Given the description of an element on the screen output the (x, y) to click on. 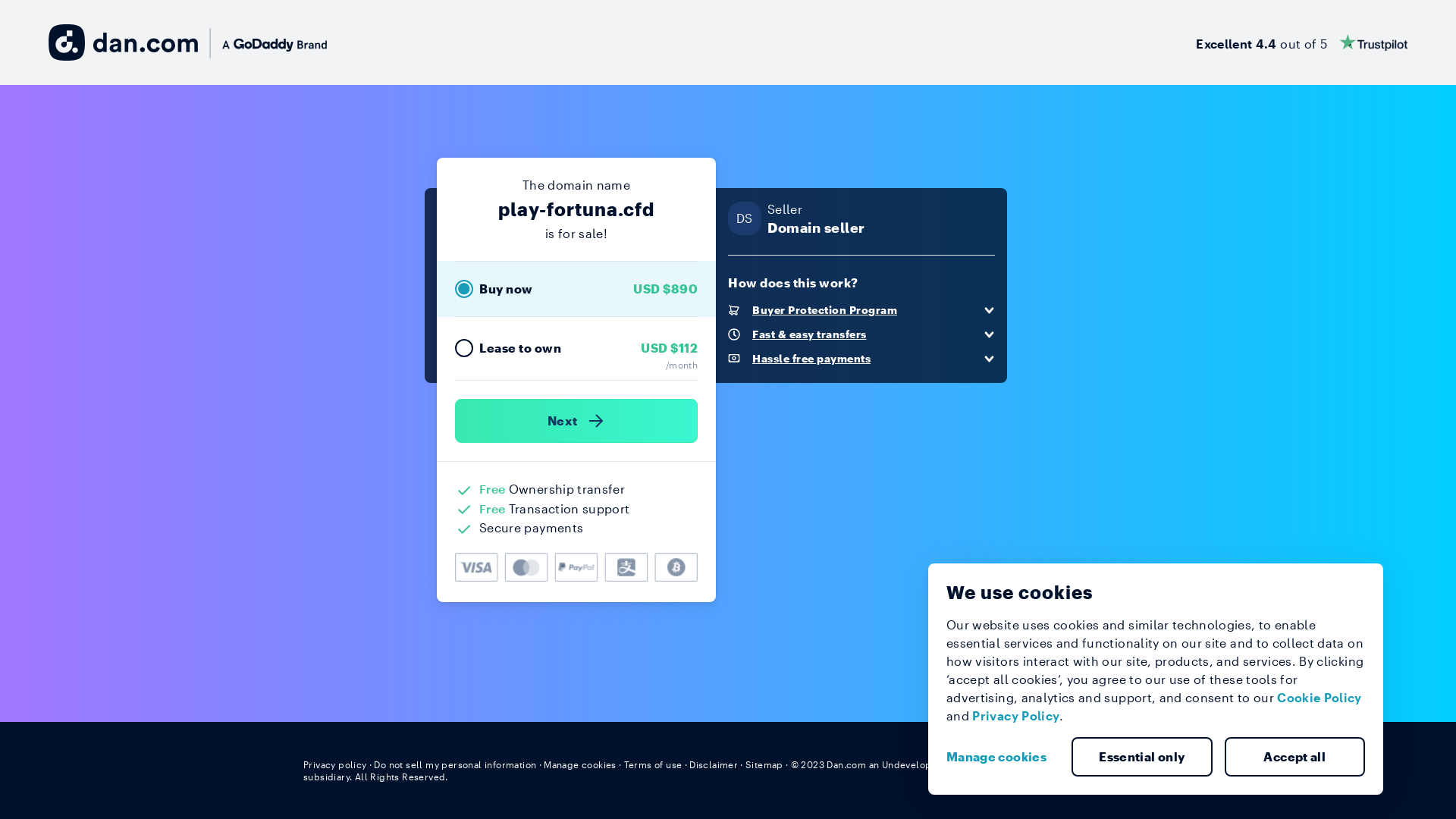
Sitemap Element type: text (764, 764)
Essential only Element type: text (1141, 756)
Privacy policy Element type: text (335, 764)
Privacy Policy Element type: text (1015, 715)
Accept all Element type: text (1294, 756)
Cookie Policy Element type: text (1319, 697)
English Element type: text (1124, 764)
Manage cookies Element type: text (579, 764)
Disclaimer Element type: text (713, 764)
Do not sell my personal information Element type: text (454, 764)
Excellent 4.4 out of 5 Element type: text (1301, 42)
Manage cookies Element type: text (1002, 756)
Terms of use Element type: text (653, 764)
Next
) Element type: text (576, 420)
